Given the description of an element on the screen output the (x, y) to click on. 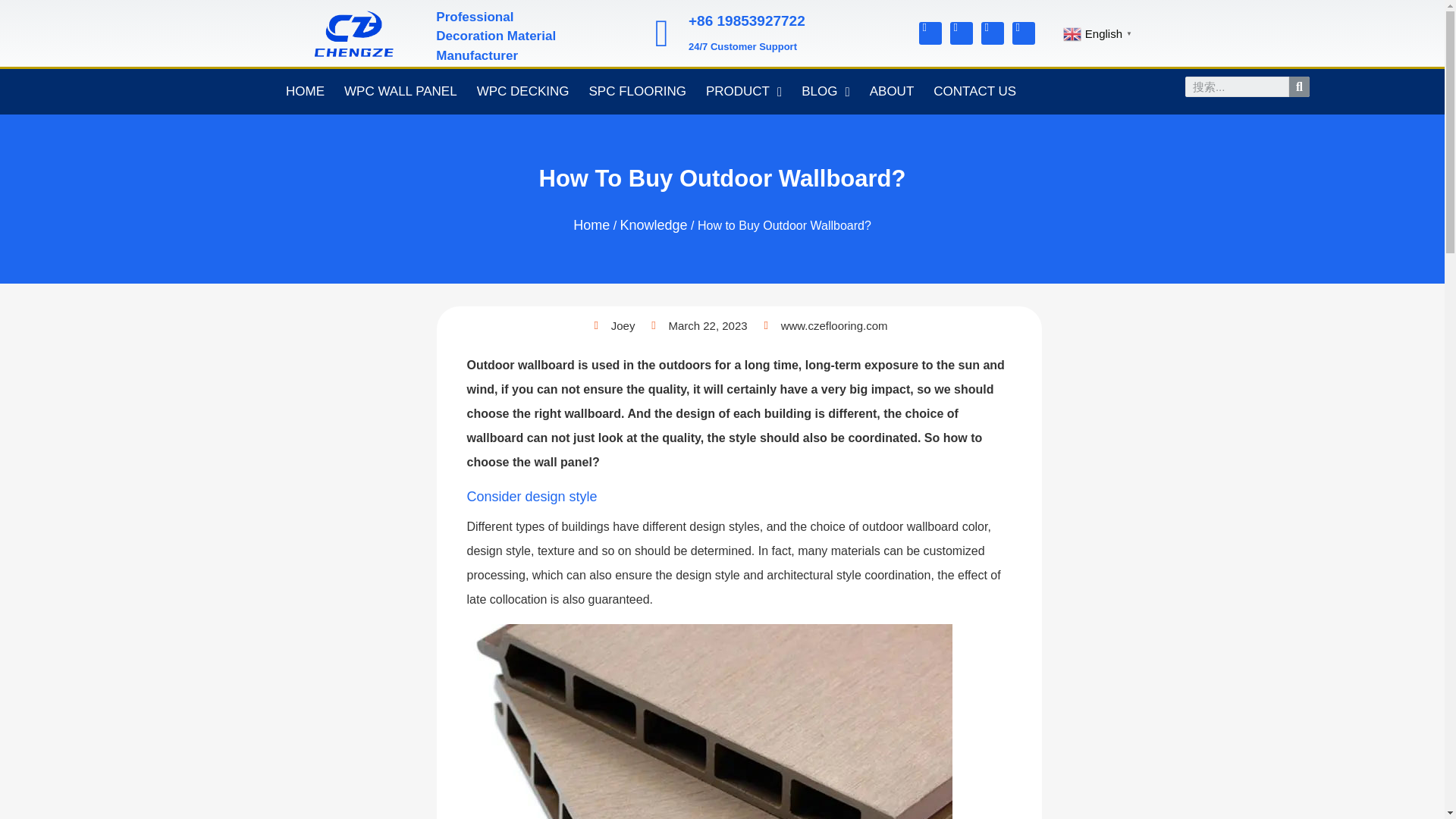
SPC FLOORING (636, 91)
HOME (305, 91)
PRODUCT (743, 91)
WPC DECKING (523, 91)
ABOUT (892, 91)
WPC WALL PANEL (400, 91)
BLOG (825, 91)
CONTACT US (974, 91)
